Given the description of an element on the screen output the (x, y) to click on. 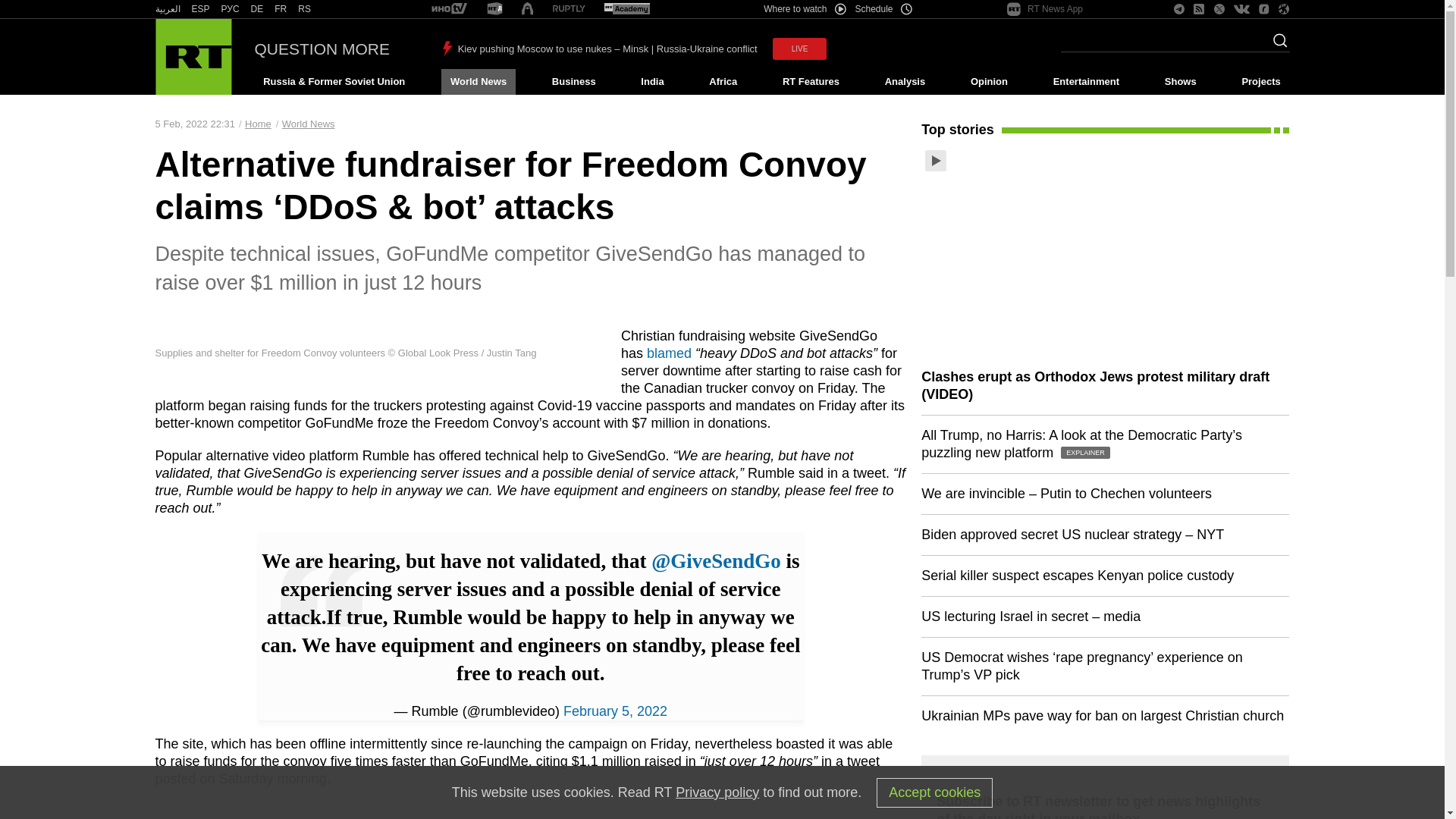
Projects (1261, 81)
RT  (199, 9)
RT  (166, 9)
QUESTION MORE (322, 48)
RT Features (810, 81)
RT  (256, 9)
RS (304, 9)
DE (256, 9)
LIVE (800, 48)
RT  (280, 9)
